Given the description of an element on the screen output the (x, y) to click on. 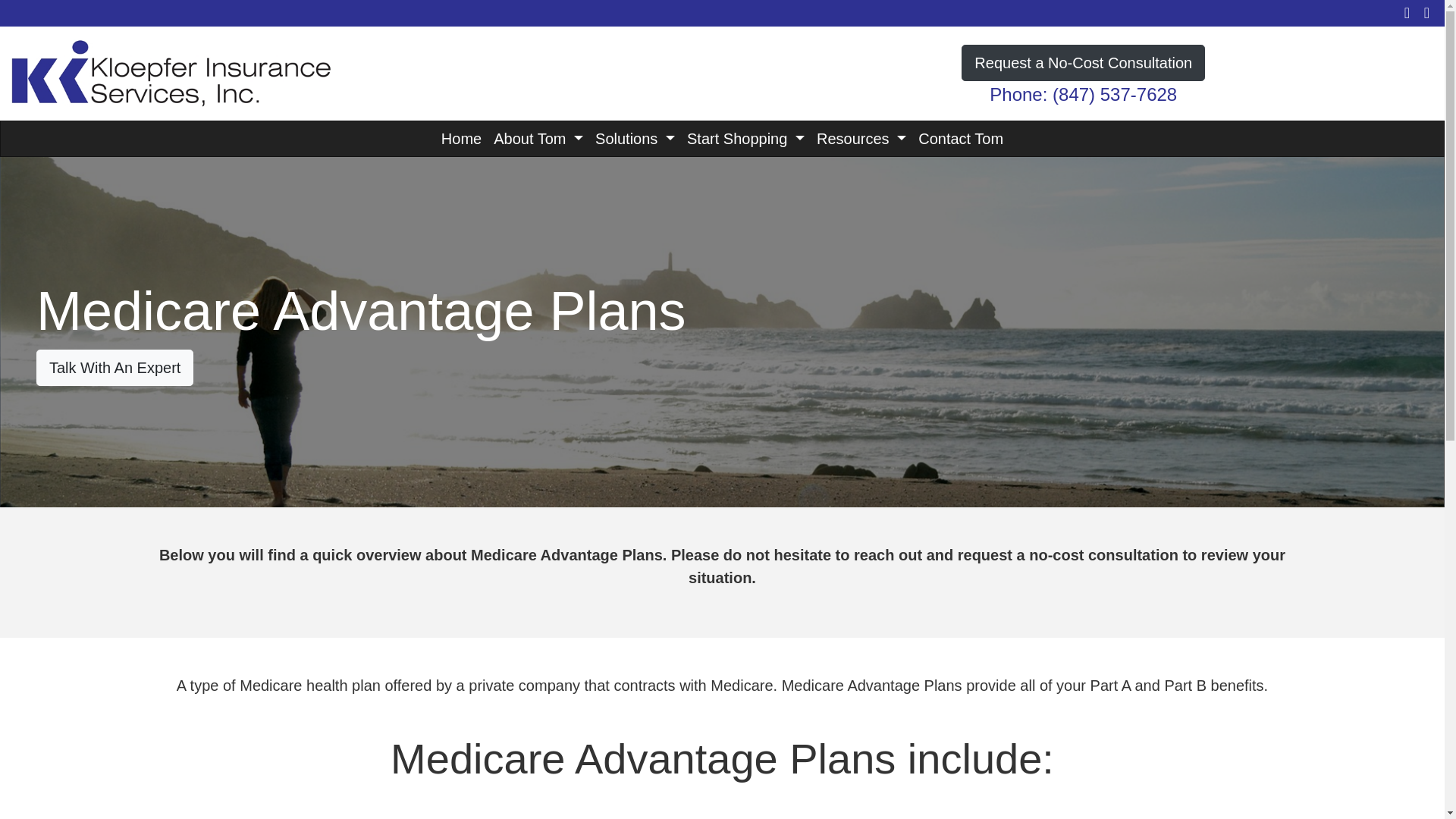
Kloepfer Insurance Services (171, 71)
Solutions (635, 138)
About Tom (538, 138)
Request a No-Cost Consultation (1082, 63)
Start Shopping (745, 138)
Home (461, 138)
